Given the description of an element on the screen output the (x, y) to click on. 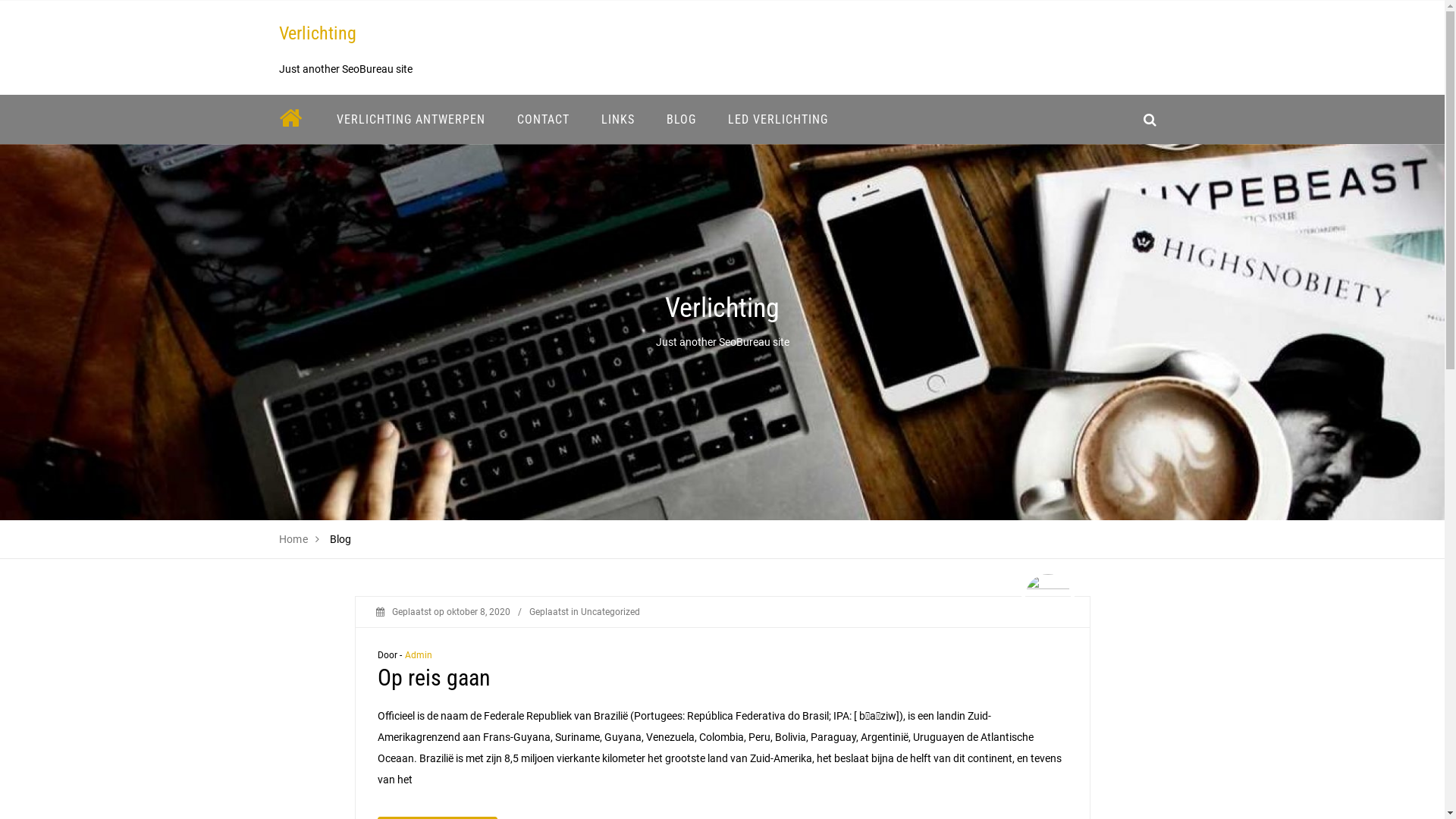
CONTACT Element type: text (542, 119)
BLOG Element type: text (681, 119)
LINKS Element type: text (617, 119)
VERLICHTING ANTWERPEN Element type: text (410, 119)
Verlichting Element type: text (317, 32)
Op reis gaan Element type: text (433, 677)
search_icon Element type: hover (1148, 119)
Uncategorized Element type: text (610, 611)
Admin Element type: text (418, 654)
Home Element type: text (293, 539)
LED VERLICHTING Element type: text (777, 119)
